Given the description of an element on the screen output the (x, y) to click on. 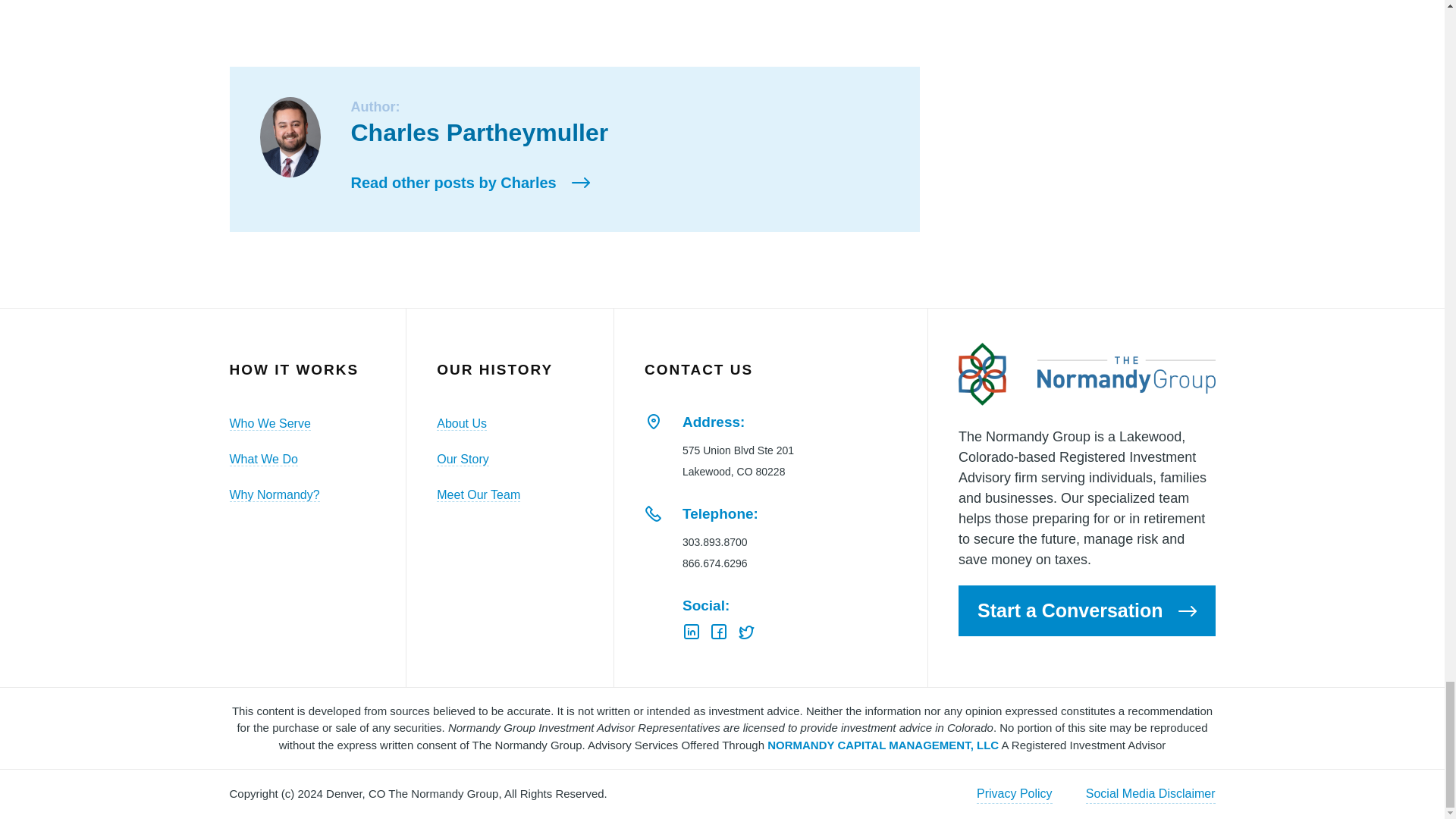
Go to the Google Maps (653, 421)
